Given the description of an element on the screen output the (x, y) to click on. 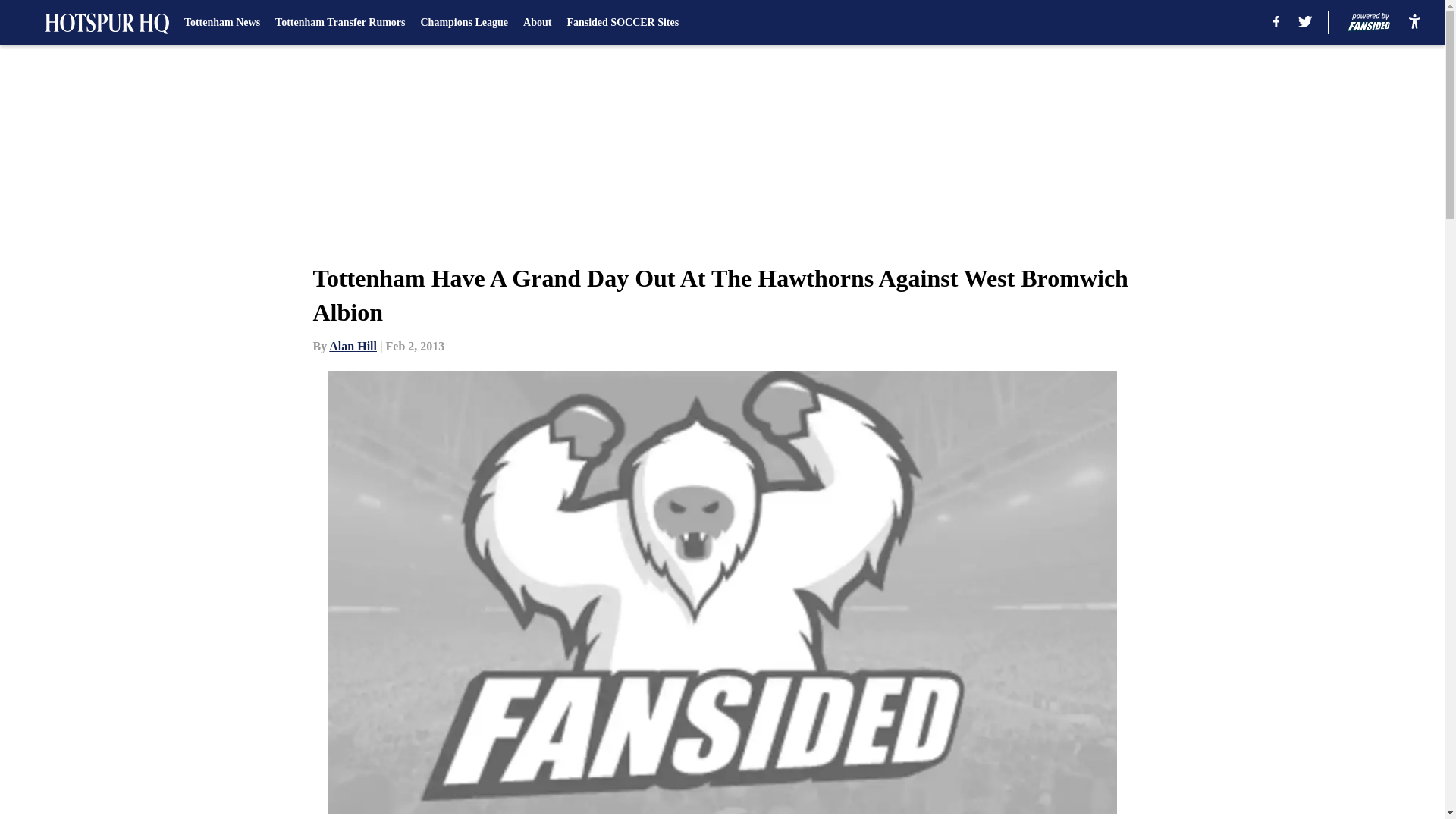
Fansided SOCCER Sites (622, 22)
Tottenham Transfer Rumors (339, 22)
Alan Hill (353, 345)
Champions League (464, 22)
Tottenham News (222, 22)
About (536, 22)
